Given the description of an element on the screen output the (x, y) to click on. 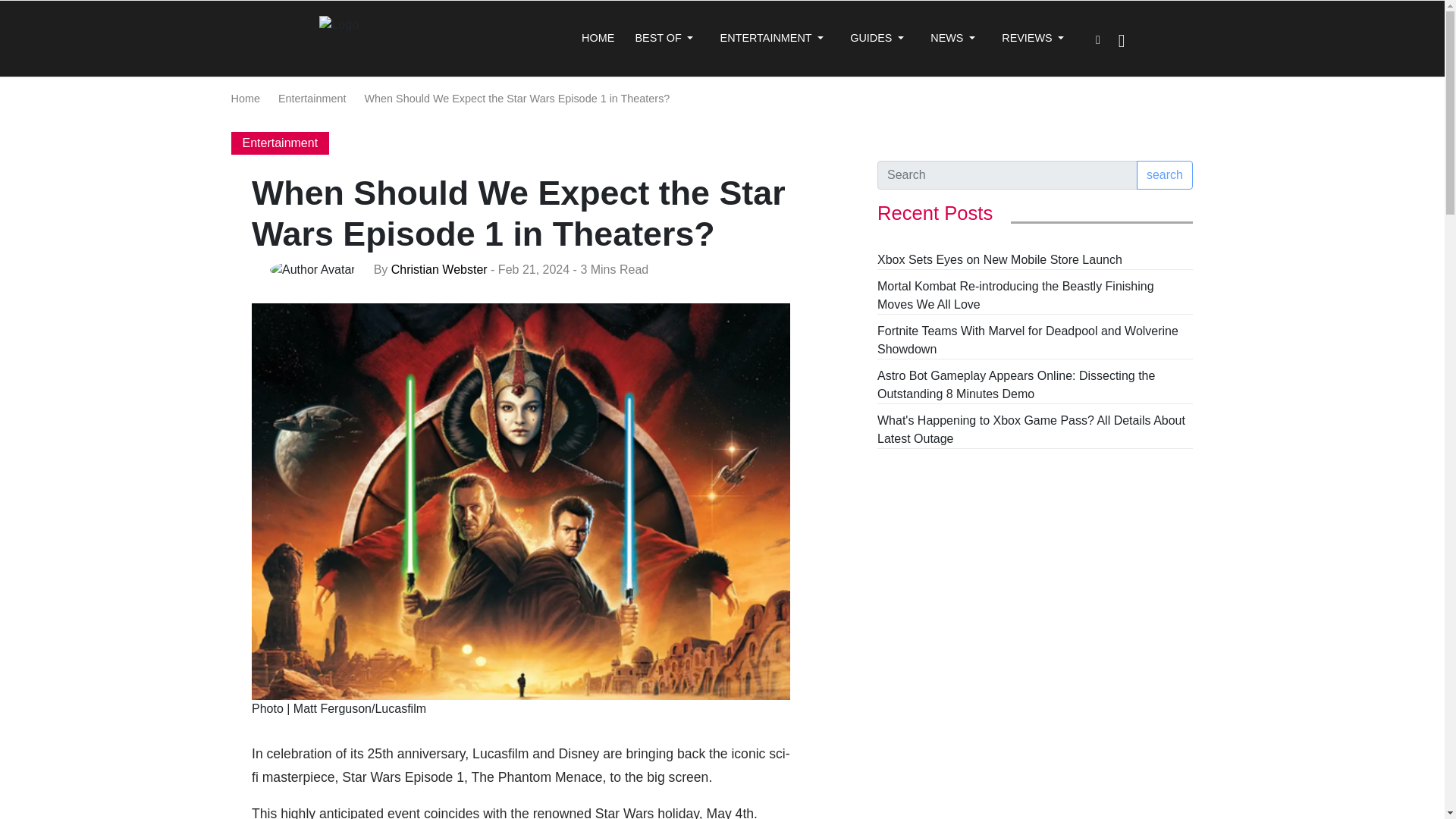
GUIDES (876, 38)
BEST OF (663, 38)
REVIEWS (1032, 38)
Home (244, 98)
Entertainment (312, 98)
When Should We Expect the Star Wars Episode 1 in Theaters? (516, 98)
NEWS (952, 38)
Entertainment (279, 142)
HOME (597, 38)
ENTERTAINMENT (771, 38)
